Given the description of an element on the screen output the (x, y) to click on. 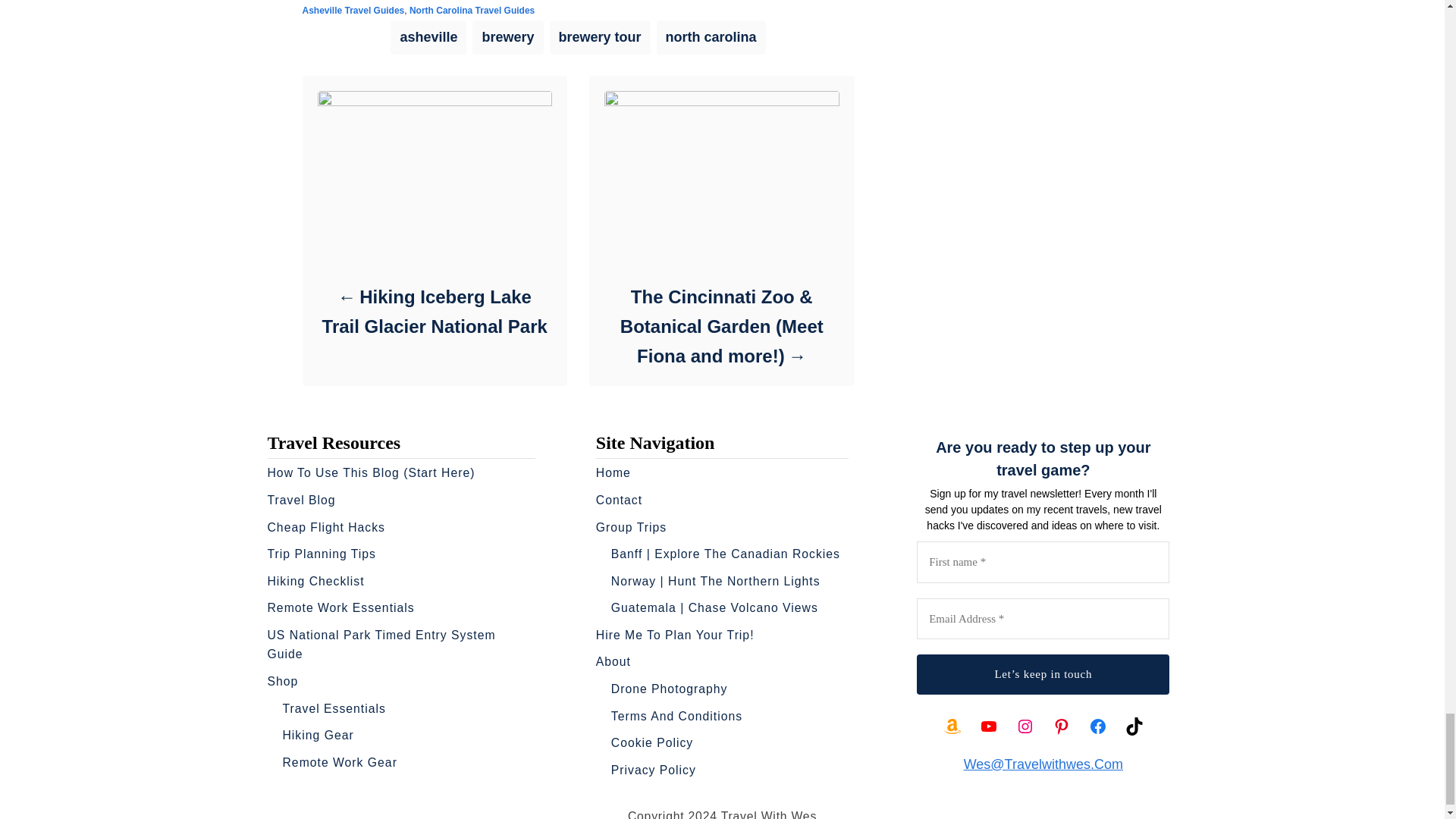
Email Address (1043, 618)
First name (1043, 562)
